Given the description of an element on the screen output the (x, y) to click on. 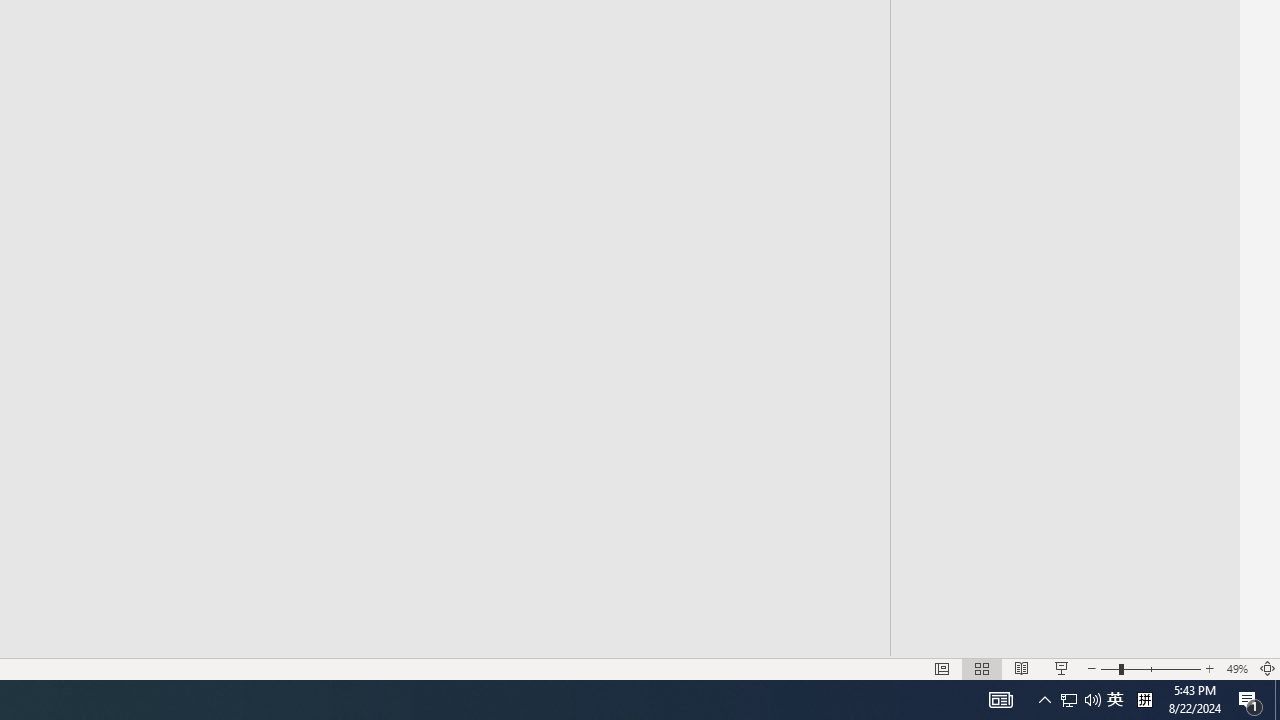
Action Center, 1 new notification (1250, 699)
Q2790: 100% (1092, 699)
AutomationID: 4105 (1000, 699)
